Given the description of an element on the screen output the (x, y) to click on. 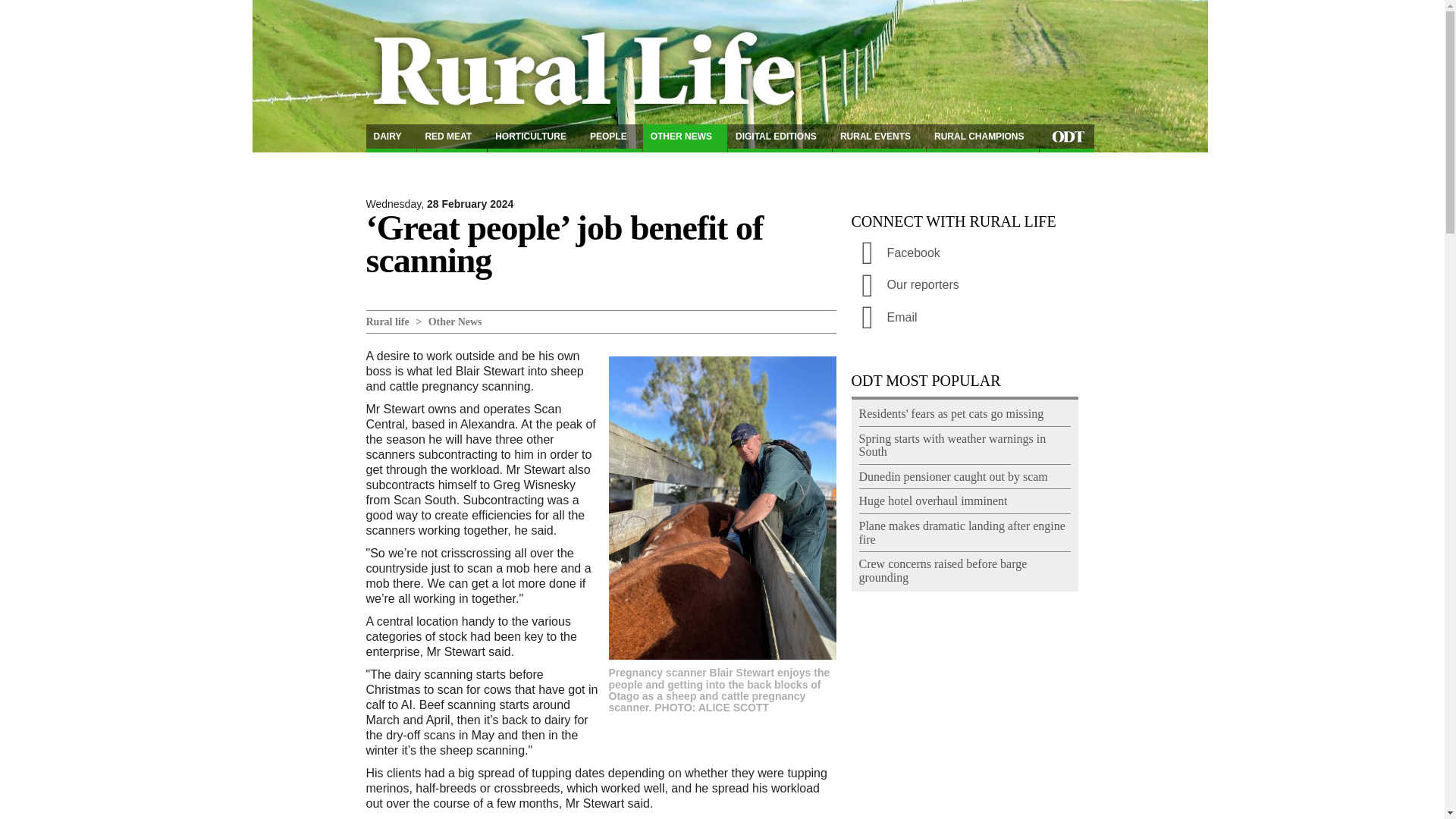
Rural life (387, 321)
PEOPLE (612, 138)
DIGITAL EDITIONS (779, 138)
DAIRY (390, 138)
OTHER NEWS (684, 138)
RURAL EVENTS (879, 138)
Home (591, 60)
RURAL CHAMPIONS (982, 138)
Other News (454, 321)
